Given the description of an element on the screen output the (x, y) to click on. 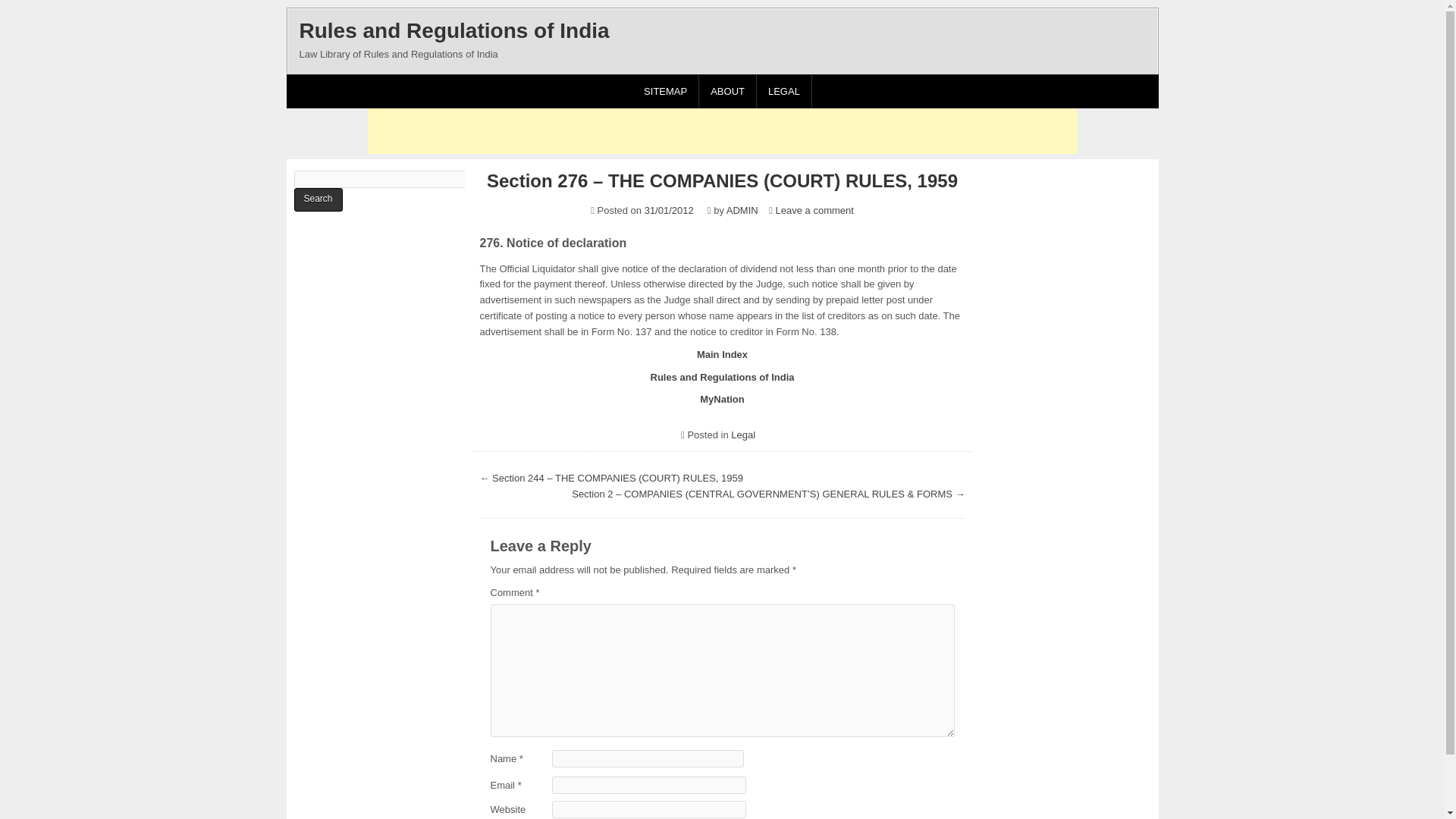
Search (318, 199)
MyNation (722, 398)
Leave a comment (814, 210)
SITEMAP (664, 91)
Legal (742, 434)
Main Index (722, 354)
Rules and Regulations of India (453, 30)
Search (318, 199)
ADMIN (742, 210)
ABOUT (727, 91)
